Given the description of an element on the screen output the (x, y) to click on. 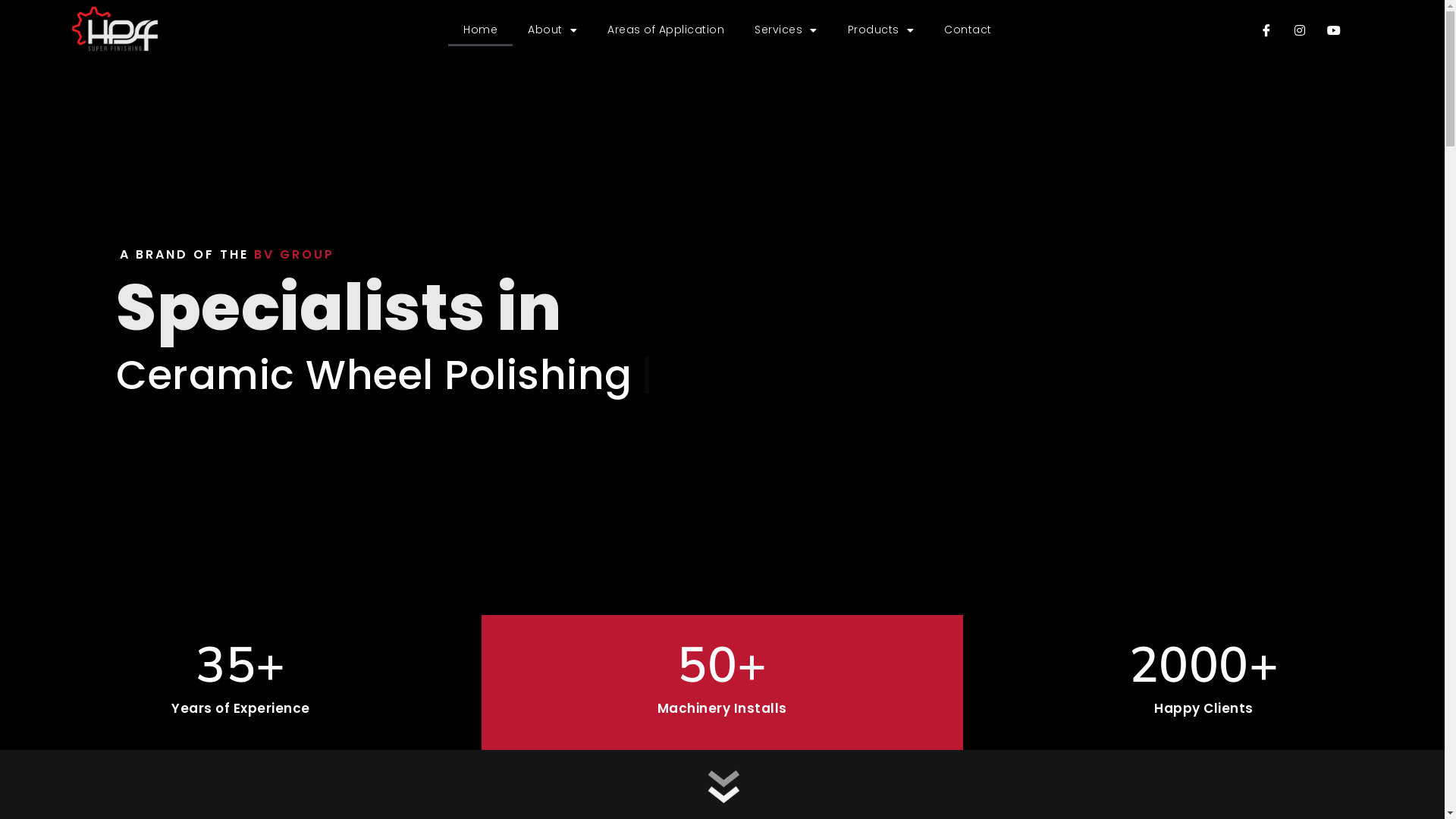
About Element type: text (552, 29)
Products Element type: text (880, 29)
Services Element type: text (785, 29)
Contact Element type: text (967, 29)
Areas of Application Element type: text (665, 29)
BV GROUP Element type: text (294, 254)
Home Element type: text (480, 29)
